Given the description of an element on the screen output the (x, y) to click on. 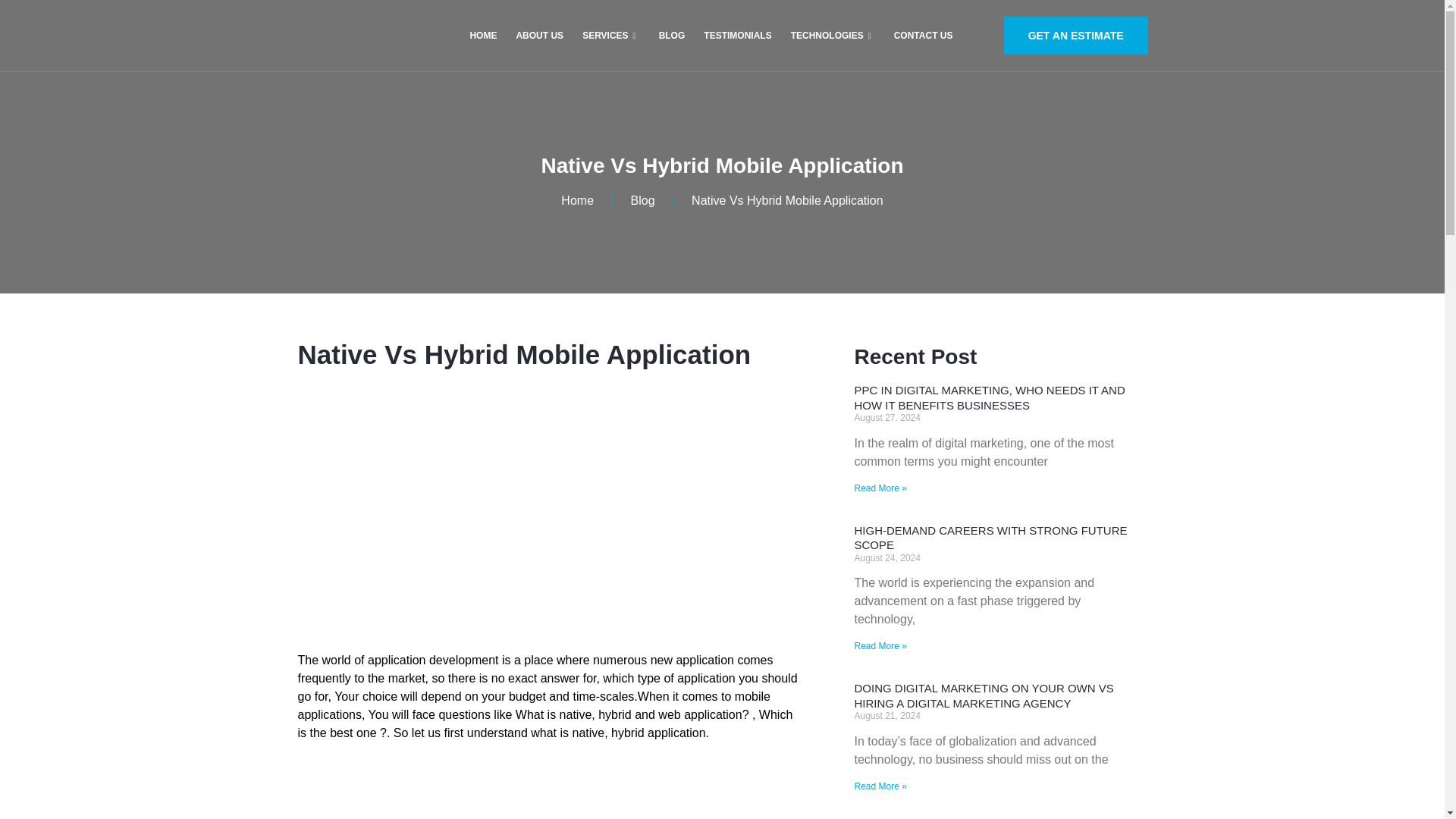
Home (577, 200)
CONTACT US (921, 35)
GET AN ESTIMATE (1076, 35)
ABOUT US (536, 35)
SERVICES (608, 35)
Blog (630, 200)
Native Vs Hybrid Mobile Application (774, 200)
TESTIMONIALS (735, 35)
TECHNOLOGIES (830, 35)
